Given the description of an element on the screen output the (x, y) to click on. 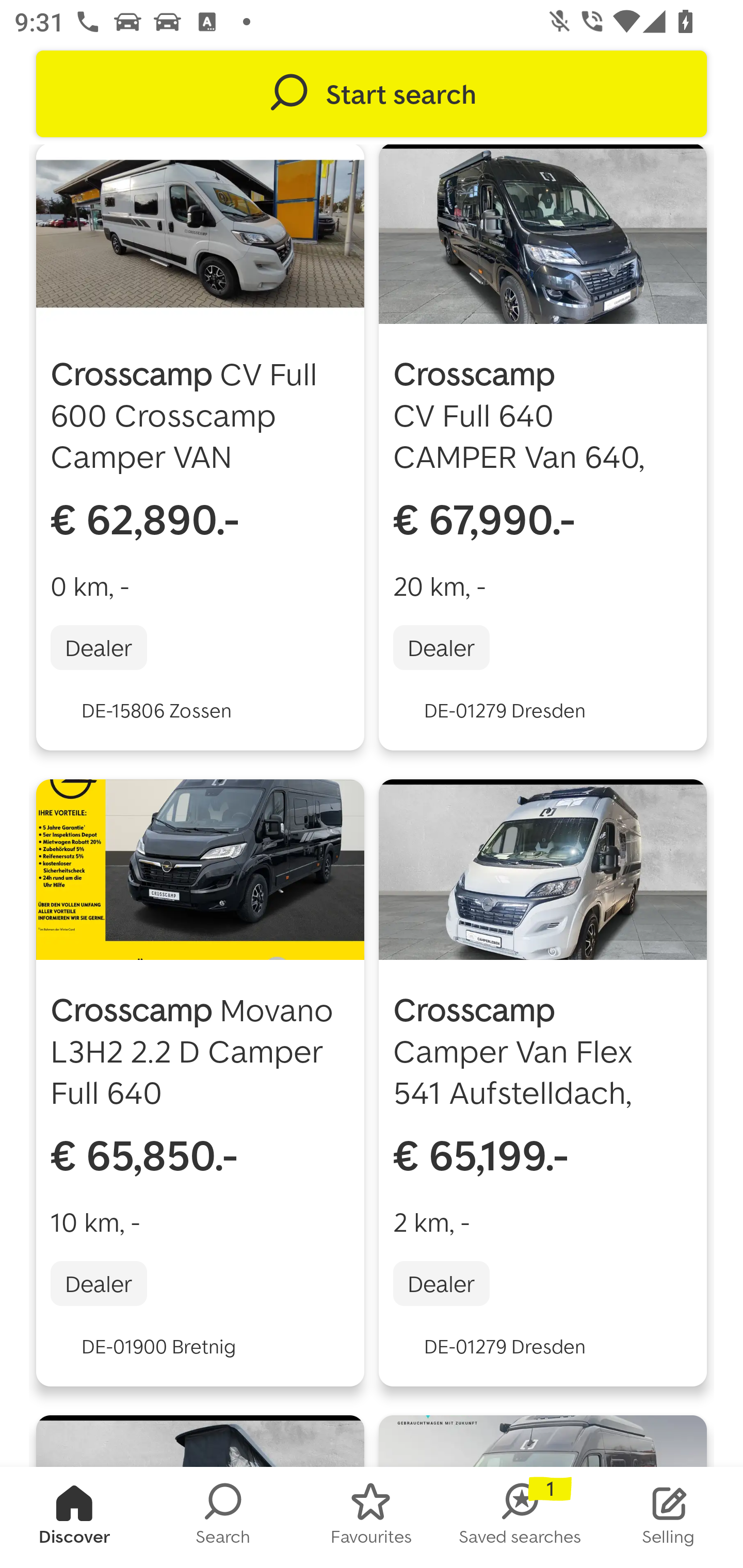
Start search (371, 93)
HOMESCREEN Discover (74, 1517)
SEARCH Search (222, 1517)
FAVORITES Favourites (371, 1517)
SAVED_SEARCHES Saved searches 1 (519, 1517)
STOCK_LIST Selling (668, 1517)
